Given the description of an element on the screen output the (x, y) to click on. 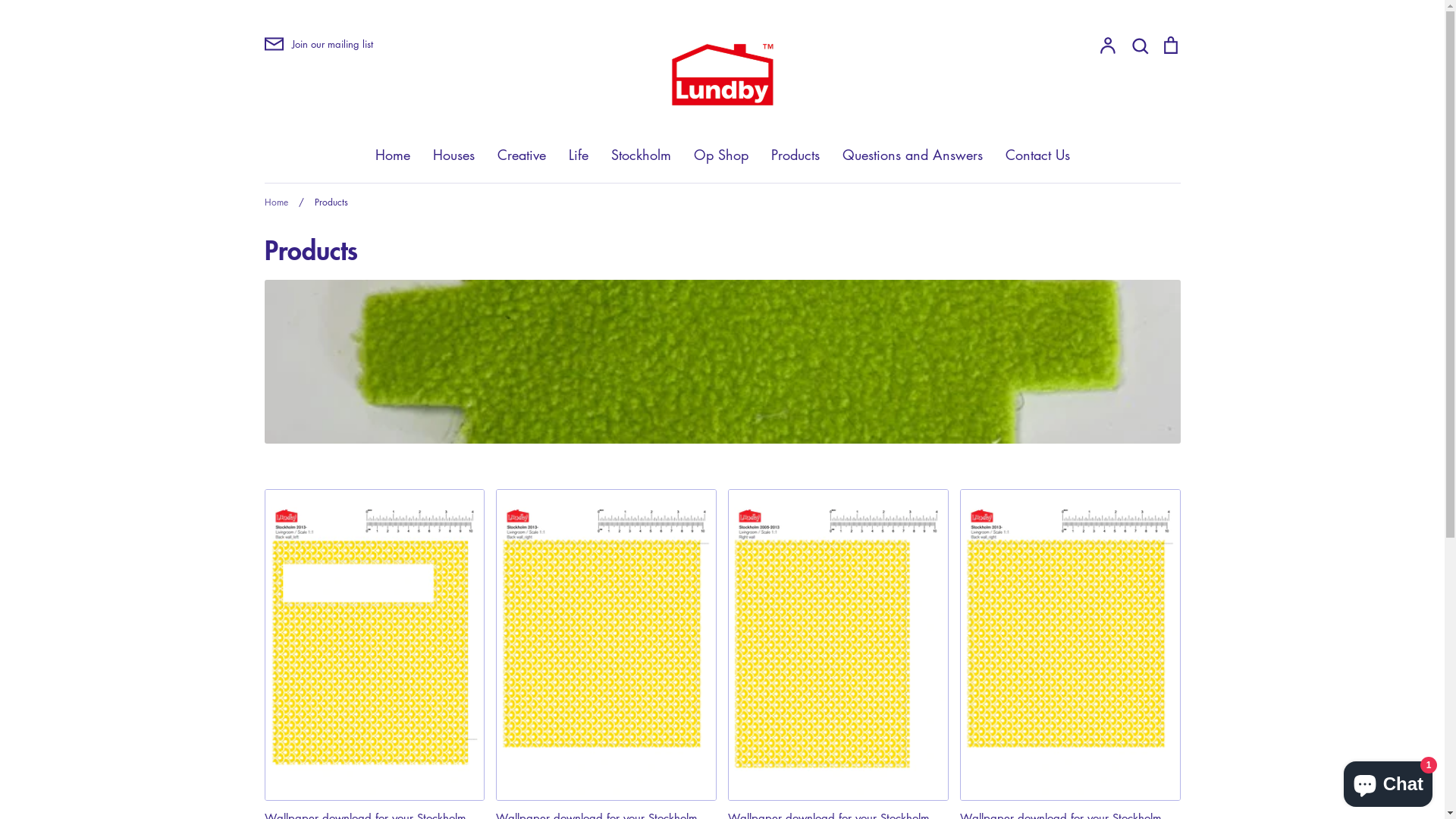
Join our mailing list Element type: text (317, 43)
Life Element type: text (578, 154)
Shopify online store chat Element type: hover (1388, 780)
Houses Element type: text (452, 154)
/ Products Element type: text (319, 201)
Op Shop Element type: text (720, 154)
Cart Element type: text (1169, 44)
Questions and Answers Element type: text (911, 154)
Stockholm Element type: text (641, 154)
Creative Element type: text (521, 154)
Home Element type: text (275, 201)
Account Element type: text (1107, 44)
Home Element type: text (391, 154)
Products Element type: text (794, 154)
Contact Us Element type: text (1037, 154)
Search Element type: text (1139, 44)
